Given the description of an element on the screen output the (x, y) to click on. 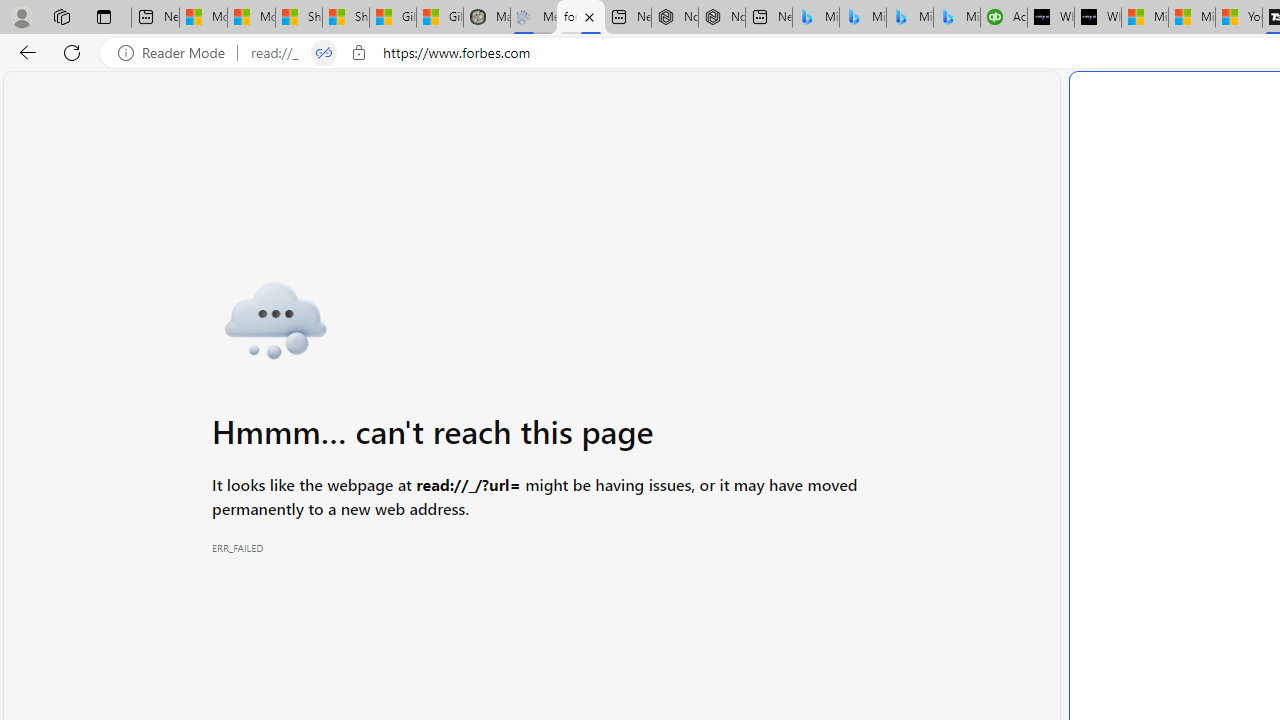
Gilma and Hector both pose tropical trouble for Hawaii (440, 17)
Shanghai, China weather forecast | Microsoft Weather (345, 17)
Microsoft Bing Travel - Stays in Bangkok, Bangkok, Thailand (862, 17)
Microsoft Start Sports (1145, 17)
